Given the description of an element on the screen output the (x, y) to click on. 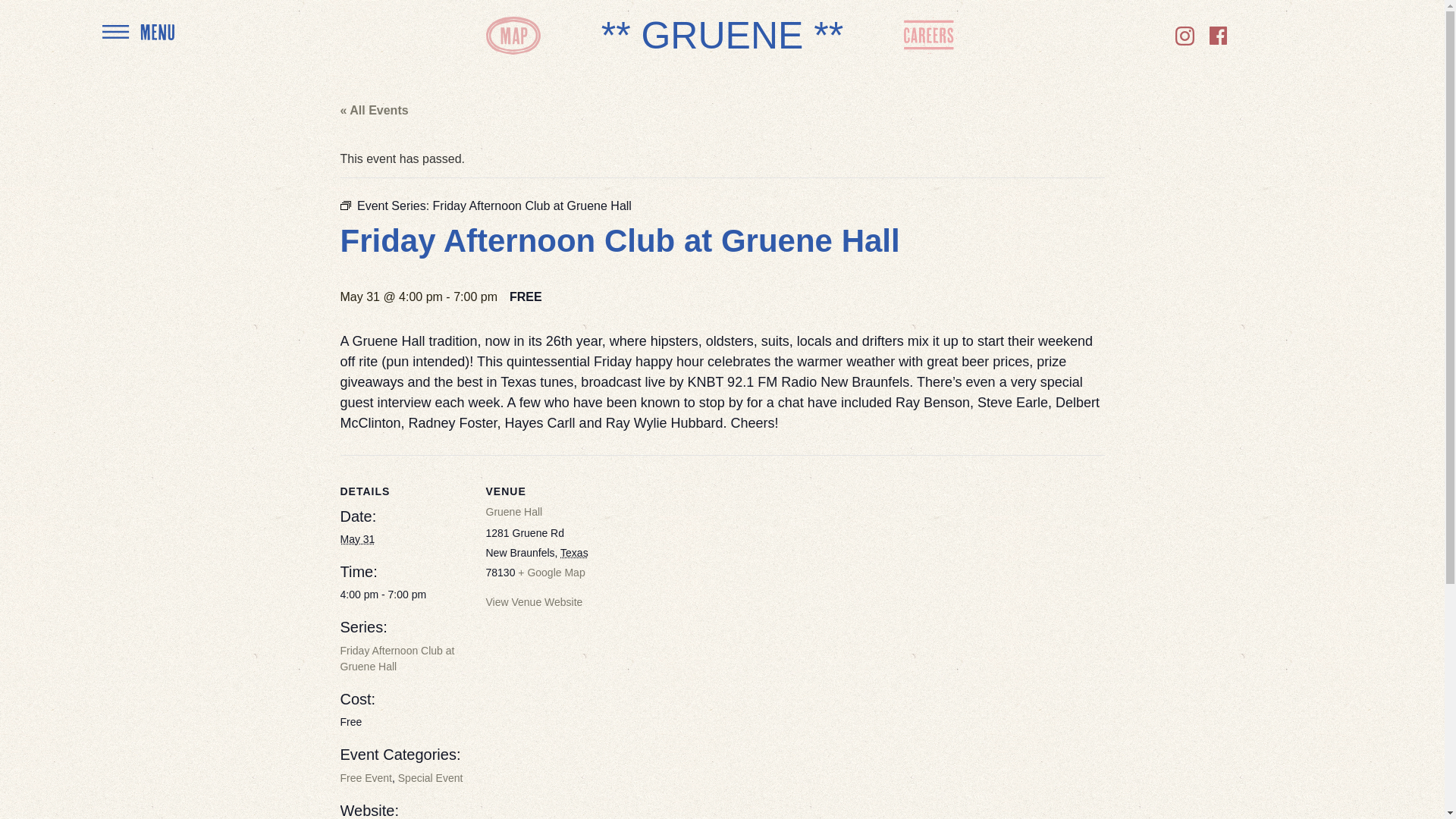
Friday Afternoon Club at Gruene Hall (396, 658)
View Venue Website (533, 602)
Click to view a Google Map (551, 572)
2024-05-31 (356, 539)
Gruene Hall (512, 511)
Google maps iframe displaying the address to Gruene Hall (710, 559)
Free Event (365, 777)
Texas (574, 552)
Special Event (430, 777)
Friday Afternoon Club at Gruene Hall (531, 205)
Event Series (344, 204)
Friday Afternoon Club at Gruene Hall (396, 658)
2024-05-31 (403, 594)
